Given the description of an element on the screen output the (x, y) to click on. 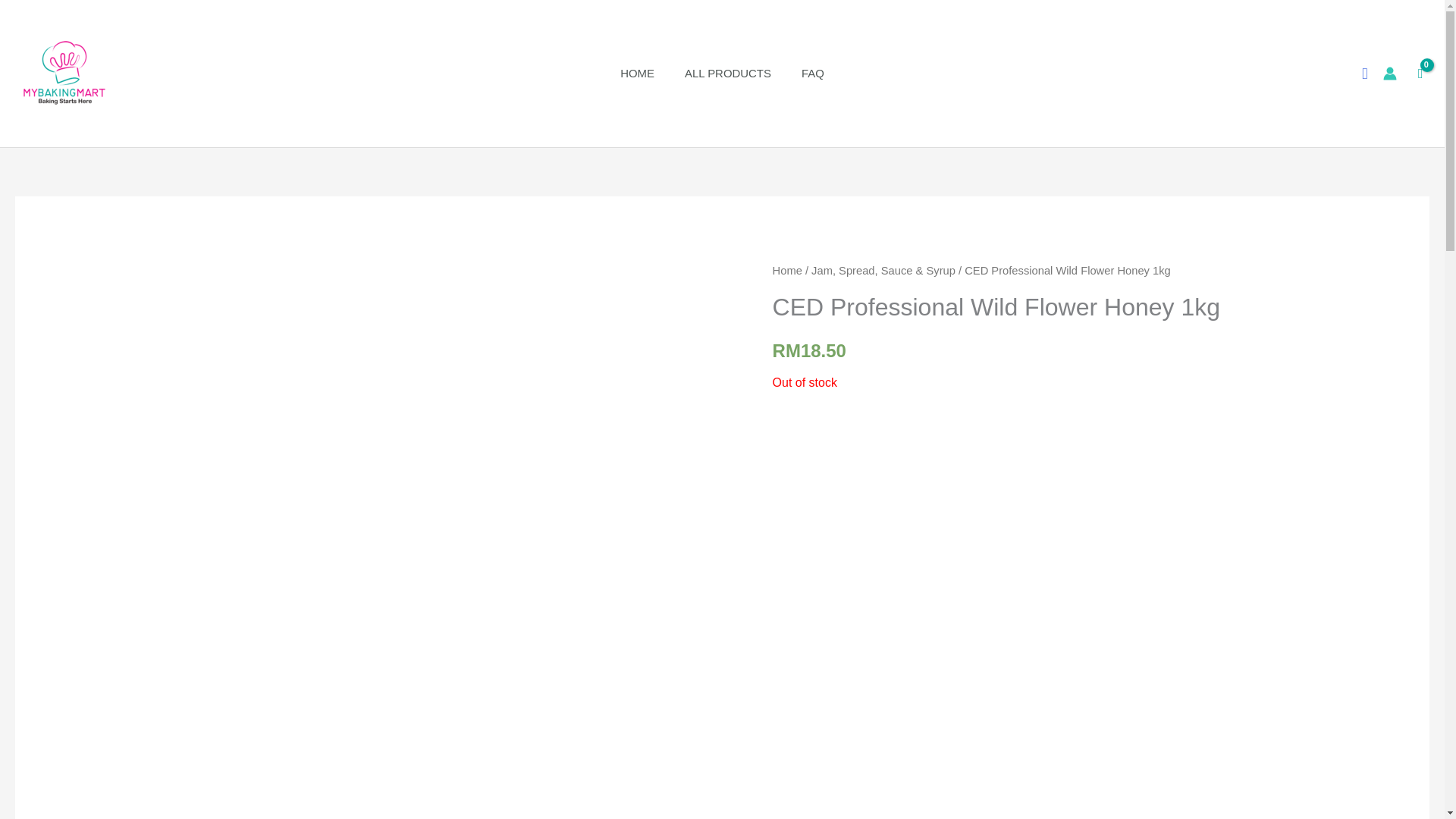
HOME (637, 73)
FAQ (813, 73)
ALL PRODUCTS (727, 73)
Home (787, 270)
